Given the description of an element on the screen output the (x, y) to click on. 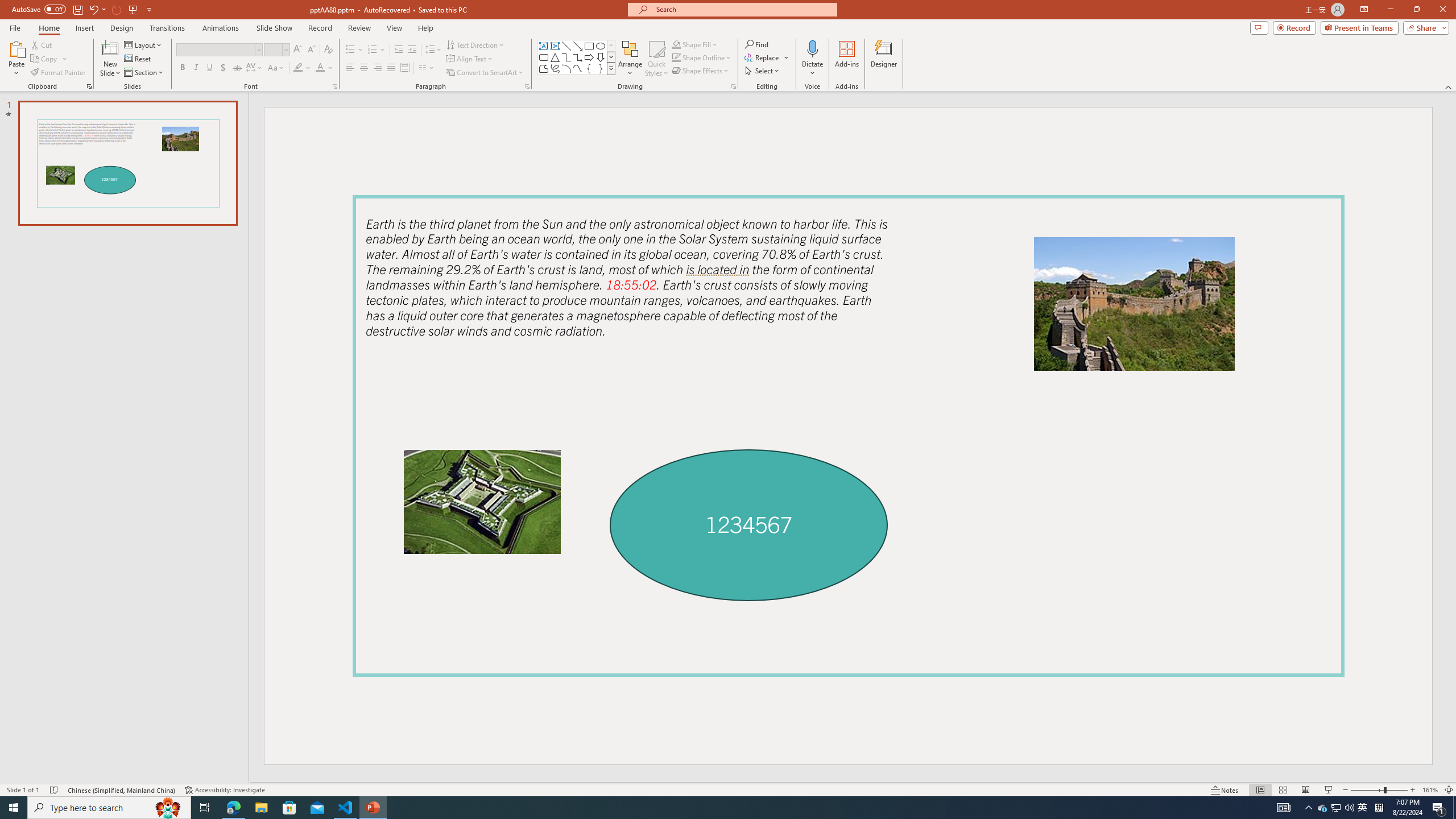
Zoom 161% (1430, 790)
